Given the description of an element on the screen output the (x, y) to click on. 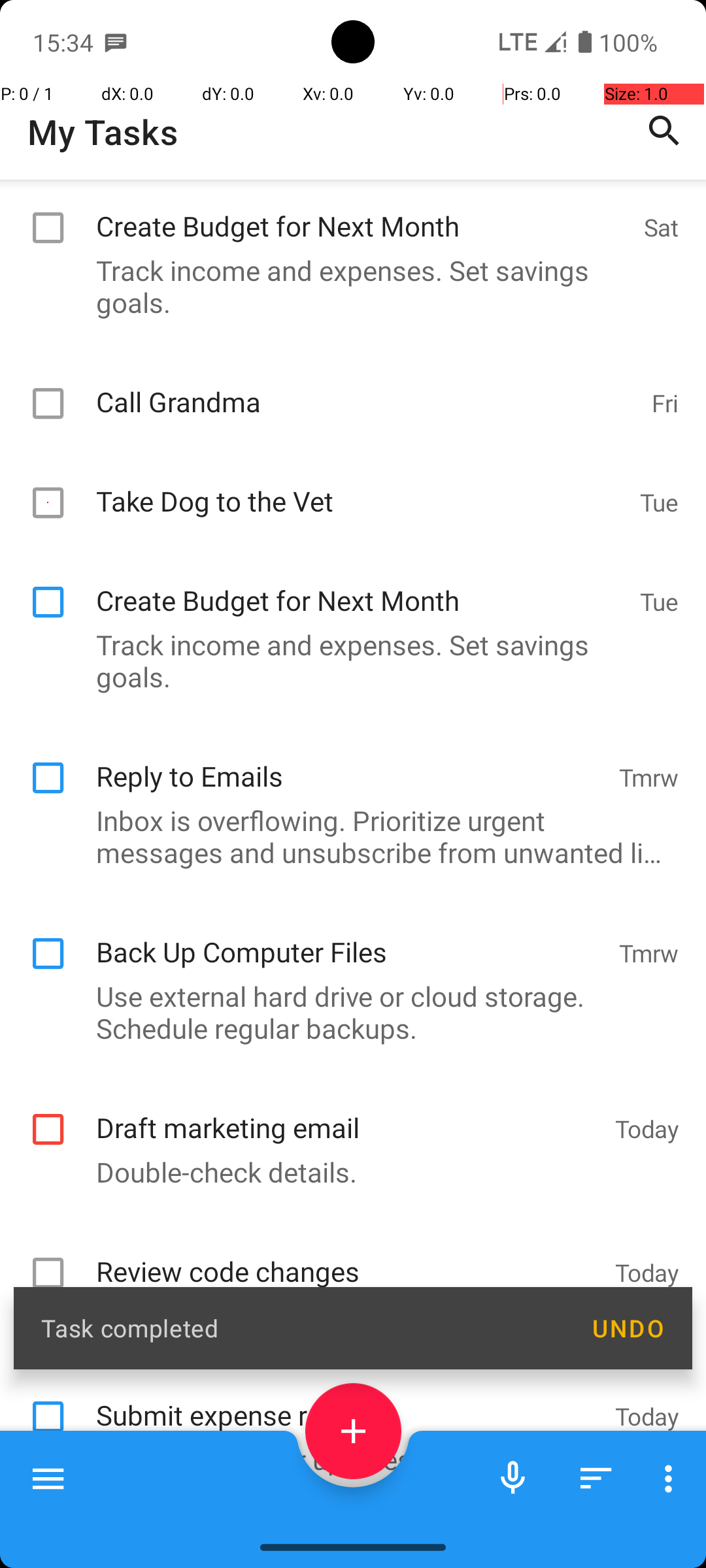
Task completed Element type: android.widget.TextView (302, 1327)
UNDO Element type: android.widget.Button (627, 1328)
Use external hard drive or cloud storage. Schedule regular backups. Element type: android.widget.TextView (346, 1170)
Draft marketing email Element type: android.widget.TextView (348, 1272)
Double-check details. Element type: android.widget.TextView (346, 1330)
Review code changes Element type: android.widget.TextView (348, 1415)
This is high priority. Element type: android.widget.TextView (346, 1473)
